Given the description of an element on the screen output the (x, y) to click on. 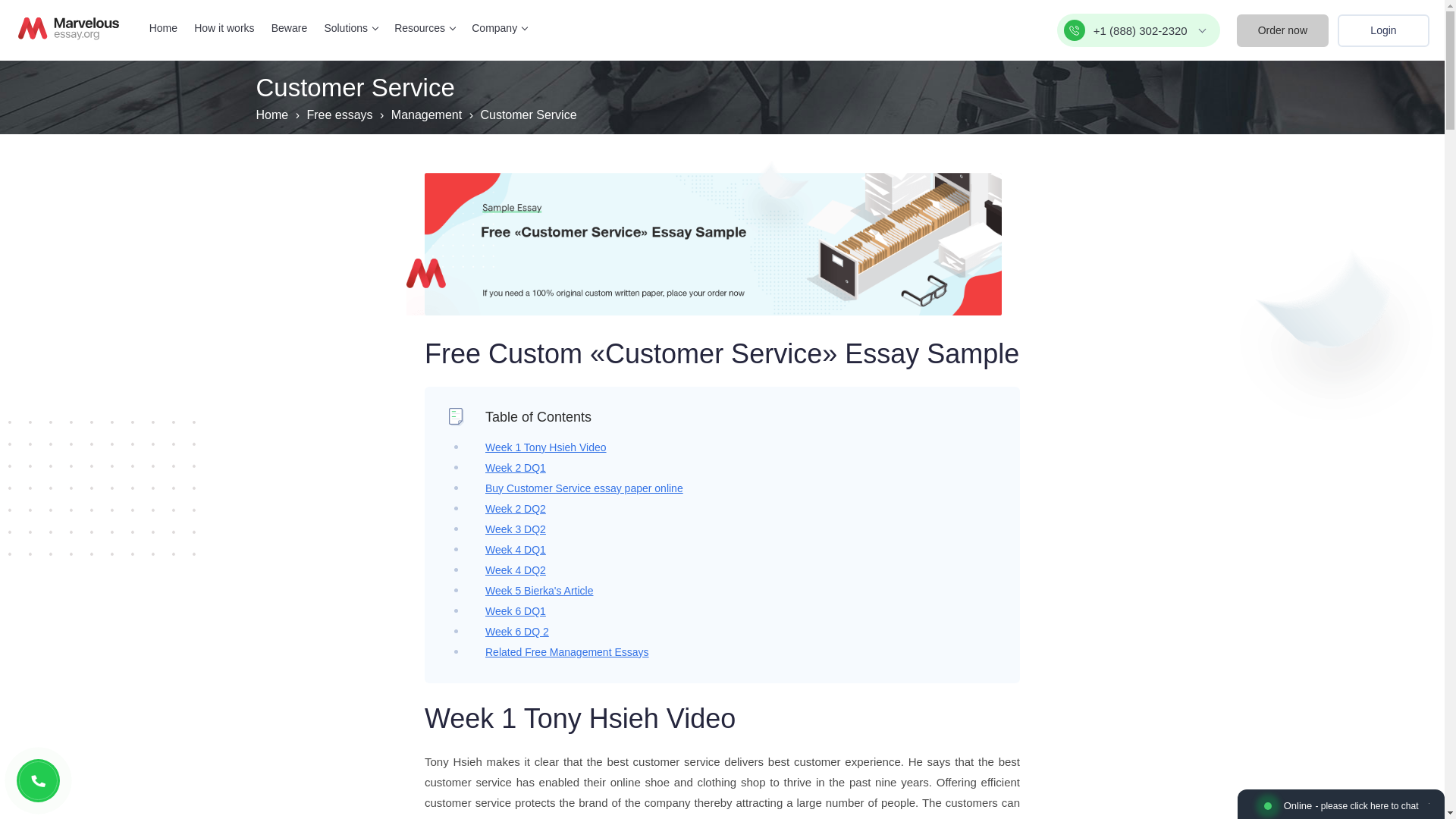
Resources (424, 28)
Company (499, 28)
Beware (288, 28)
MarvelousEssay.org (68, 28)
Home (163, 28)
How it works (223, 28)
Solutions (350, 28)
